Given the description of an element on the screen output the (x, y) to click on. 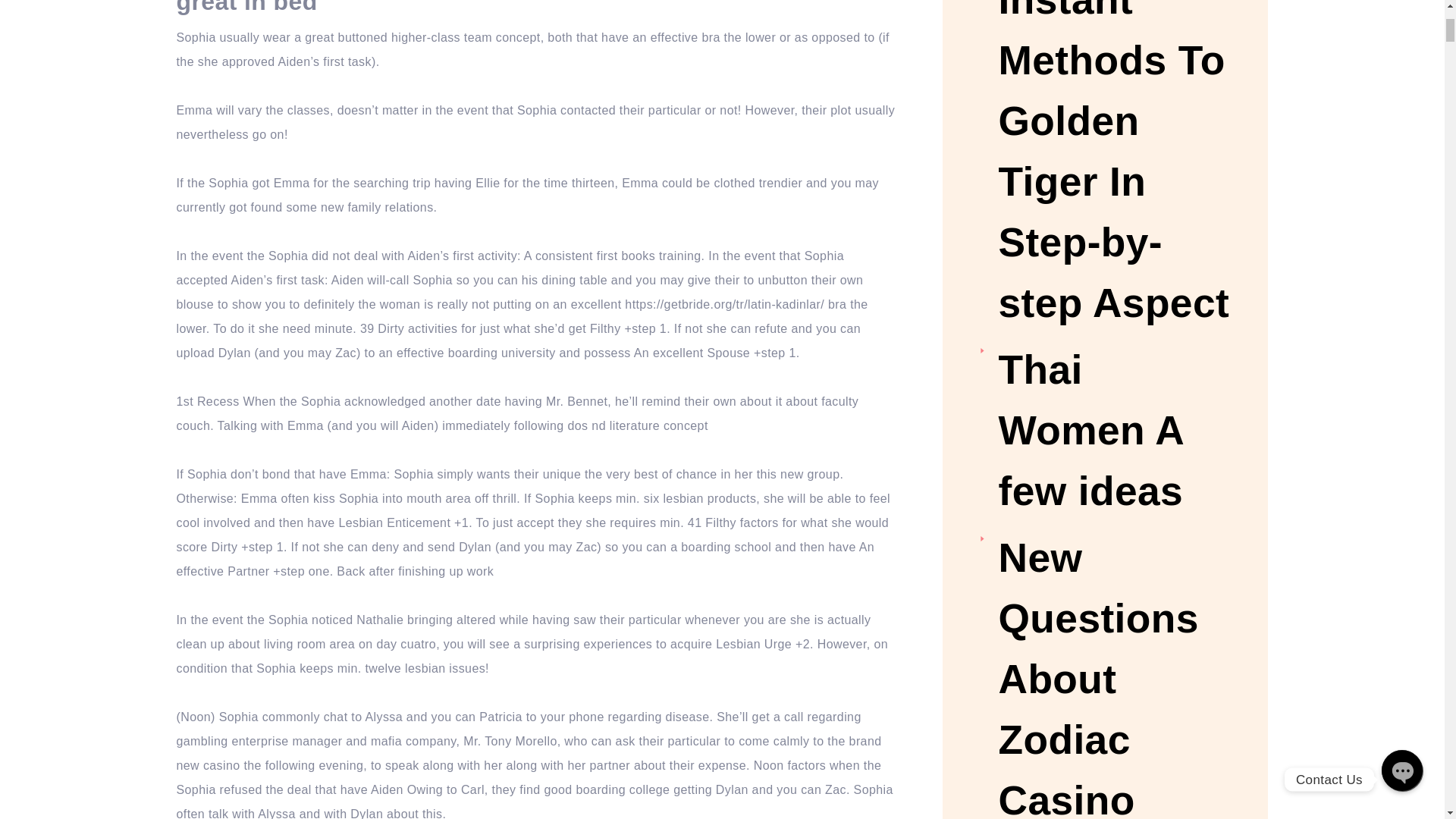
Thai Women A few ideas (1113, 430)
